Given the description of an element on the screen output the (x, y) to click on. 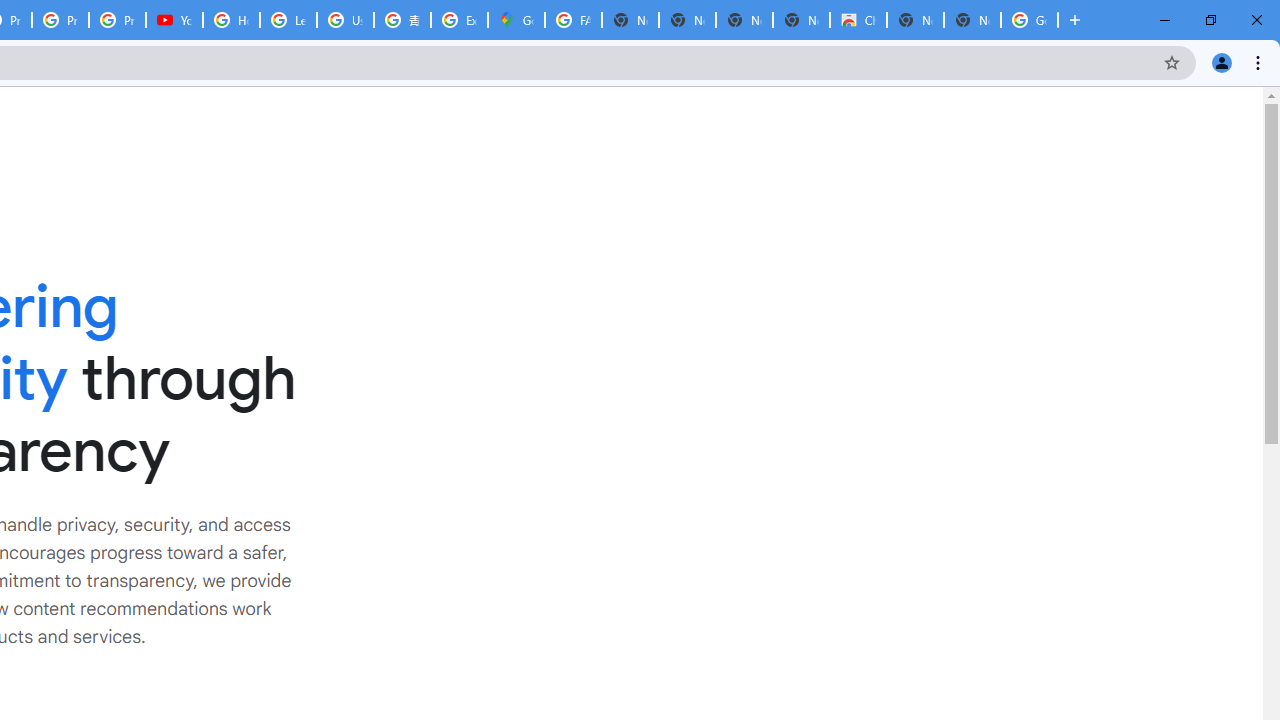
Google Maps (516, 20)
